Given the description of an element on the screen output the (x, y) to click on. 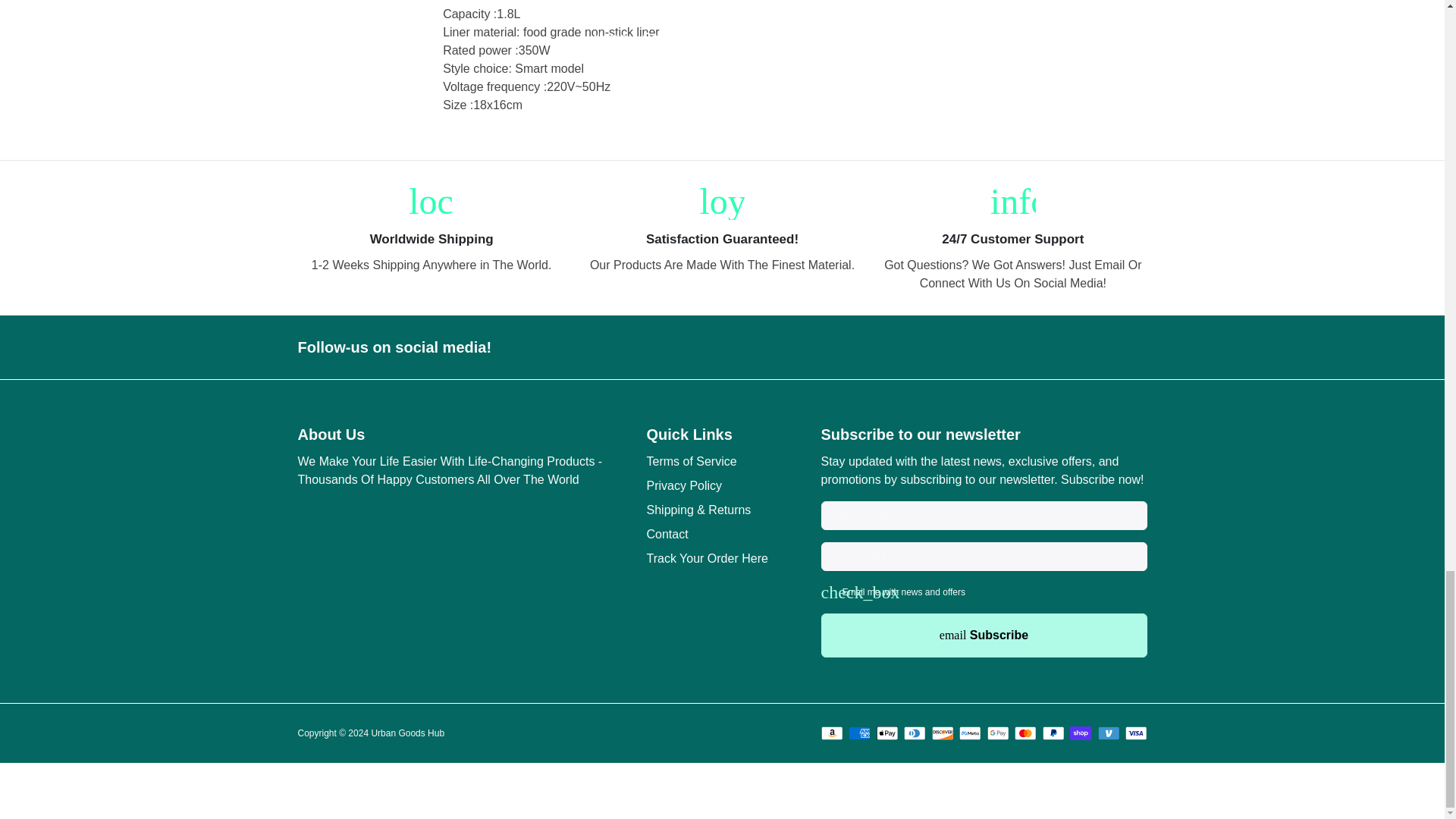
Apple Pay (887, 733)
Amazon (831, 733)
PayPal (1052, 733)
Discover (941, 733)
Meta Pay (970, 733)
Mastercard (1025, 733)
Shop Pay (1081, 733)
Diners Club (915, 733)
Venmo (1108, 733)
Visa (1136, 733)
